Given the description of an element on the screen output the (x, y) to click on. 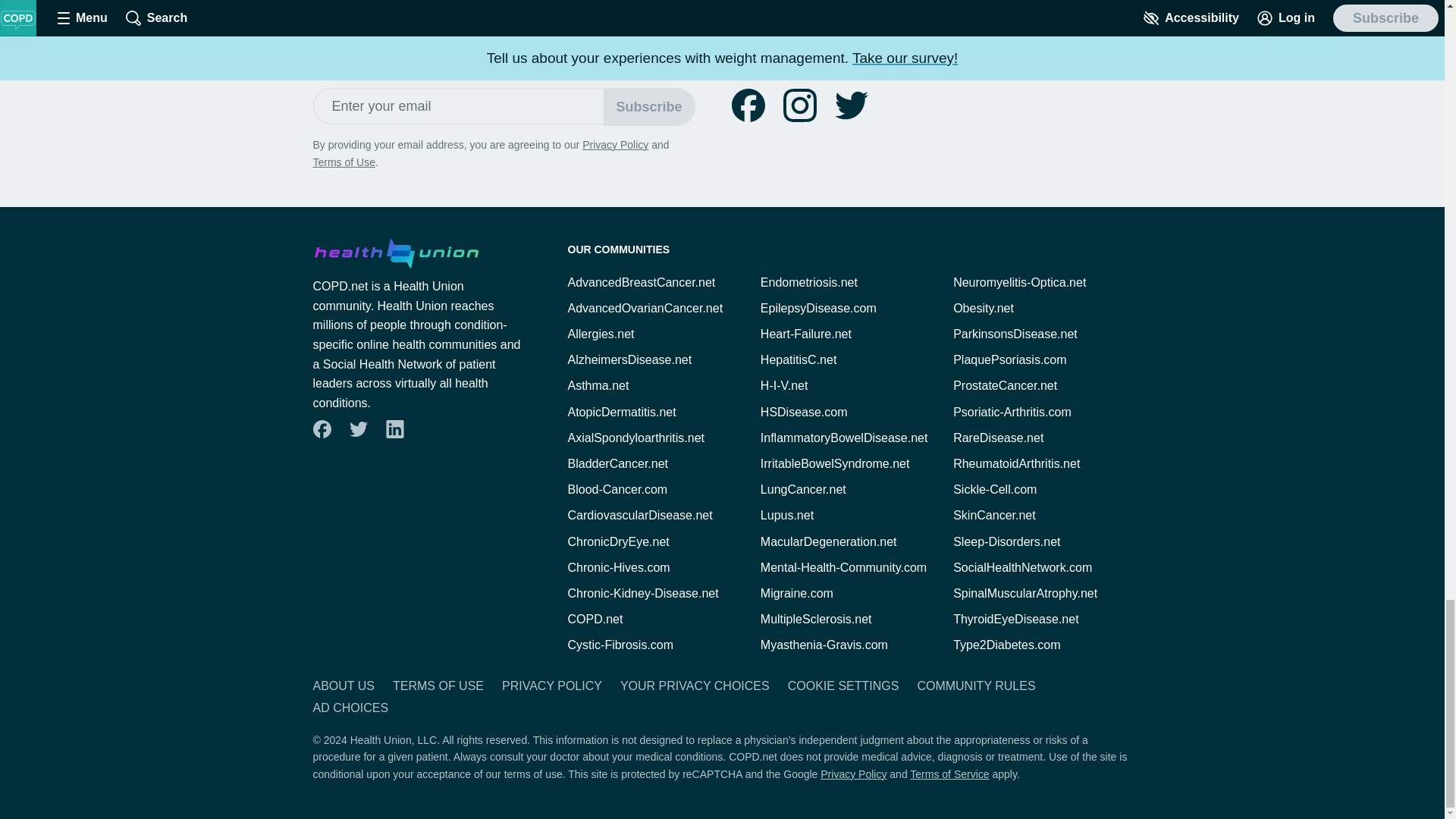
Follow us on twitter (357, 429)
Follow us on linkedin (394, 429)
Follow us on twitter (850, 105)
Follow us on facebook (747, 105)
Follow us on instagram (799, 105)
Follow us on facebook (321, 429)
